Given the description of an element on the screen output the (x, y) to click on. 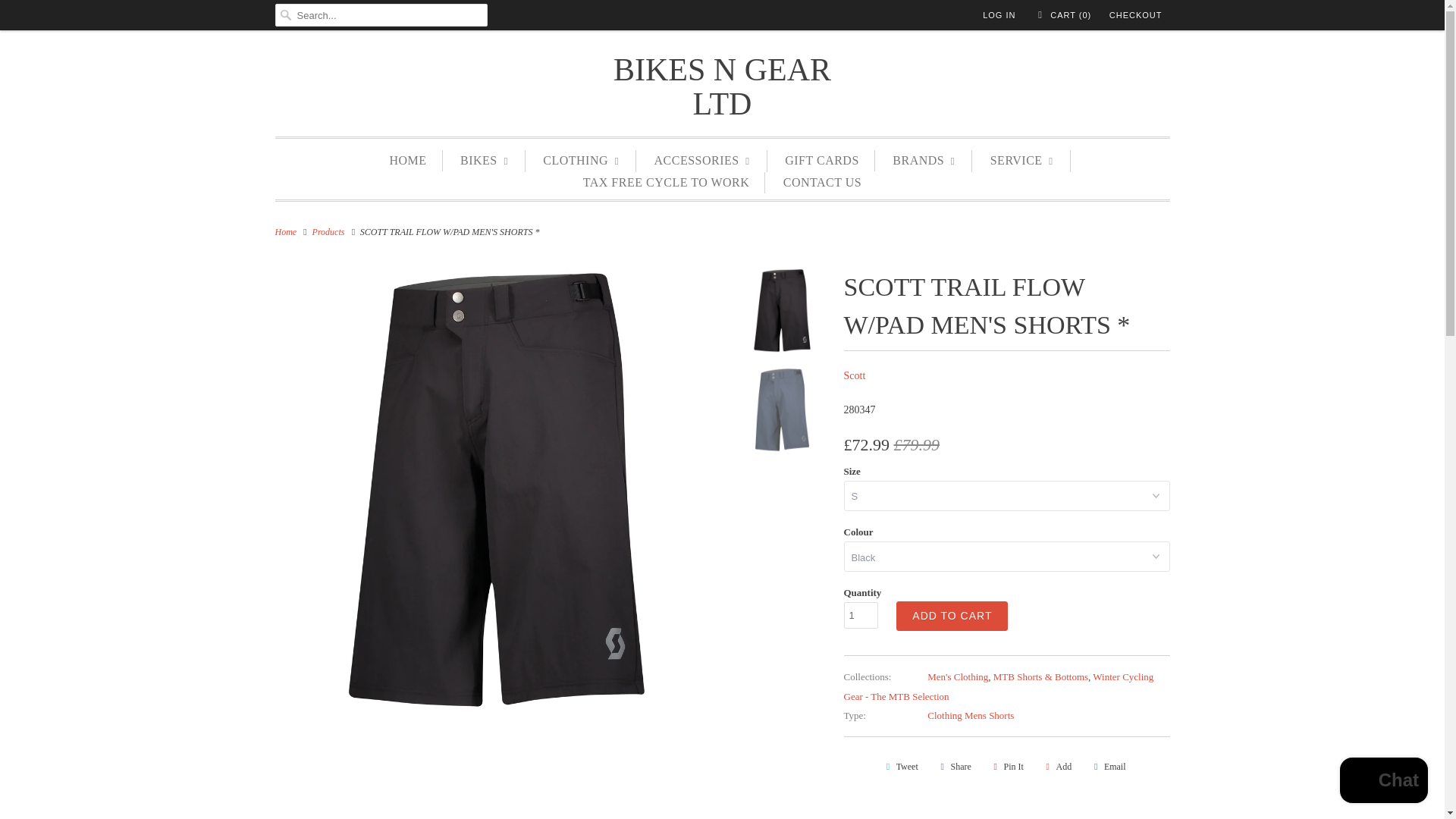
CHECKOUT (1135, 15)
Products (329, 231)
1 (860, 614)
LOG IN (998, 15)
Share this on Twitter (898, 766)
Share this on Pinterest (1005, 766)
Bikes n Gear Ltd (286, 231)
Browse Men's Clothing (957, 676)
Email this to a friend (1107, 766)
BIKES N GEAR LTD (722, 87)
